Given the description of an element on the screen output the (x, y) to click on. 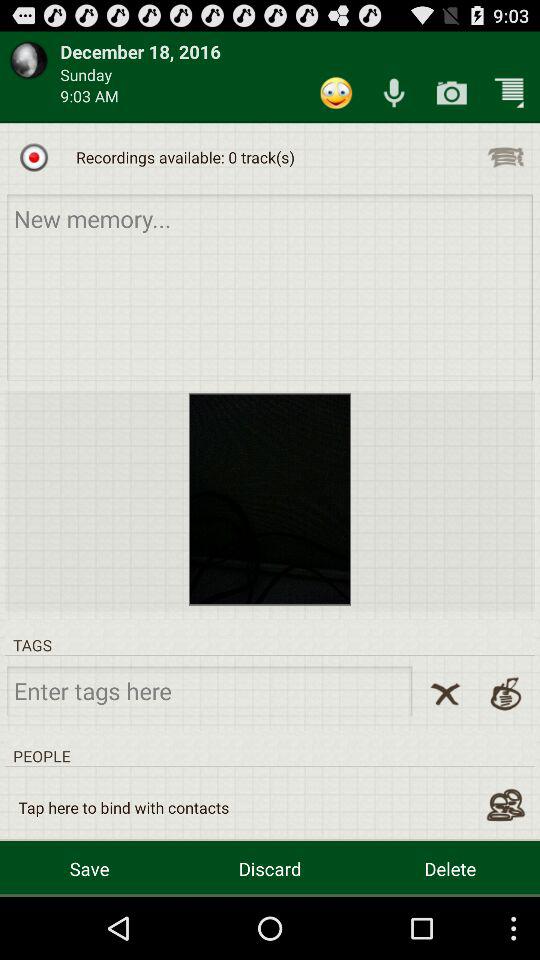
capture audio (394, 92)
